Given the description of an element on the screen output the (x, y) to click on. 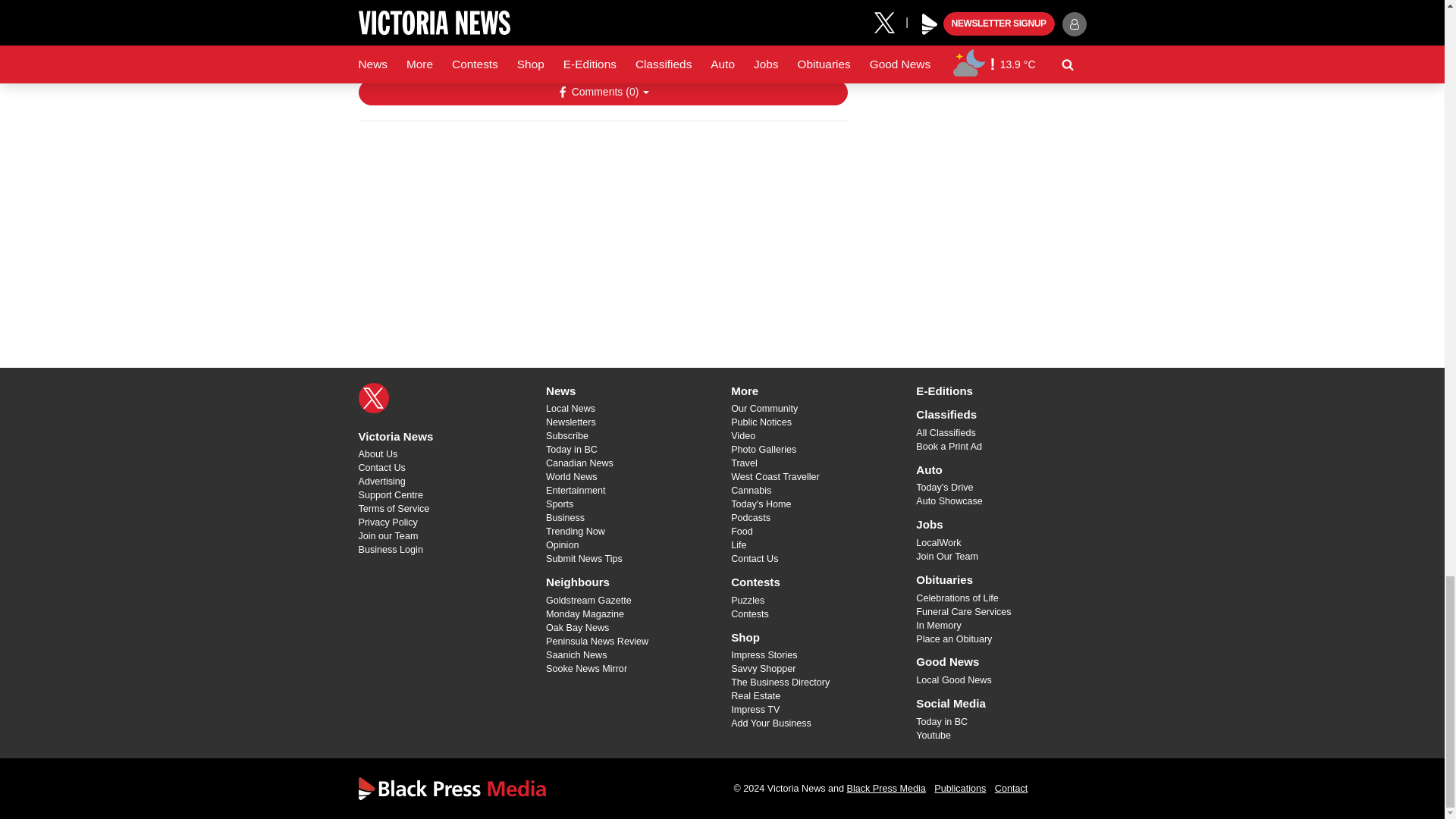
X (373, 398)
3rd party ad content (602, 230)
Show Comments (602, 92)
